Given the description of an element on the screen output the (x, y) to click on. 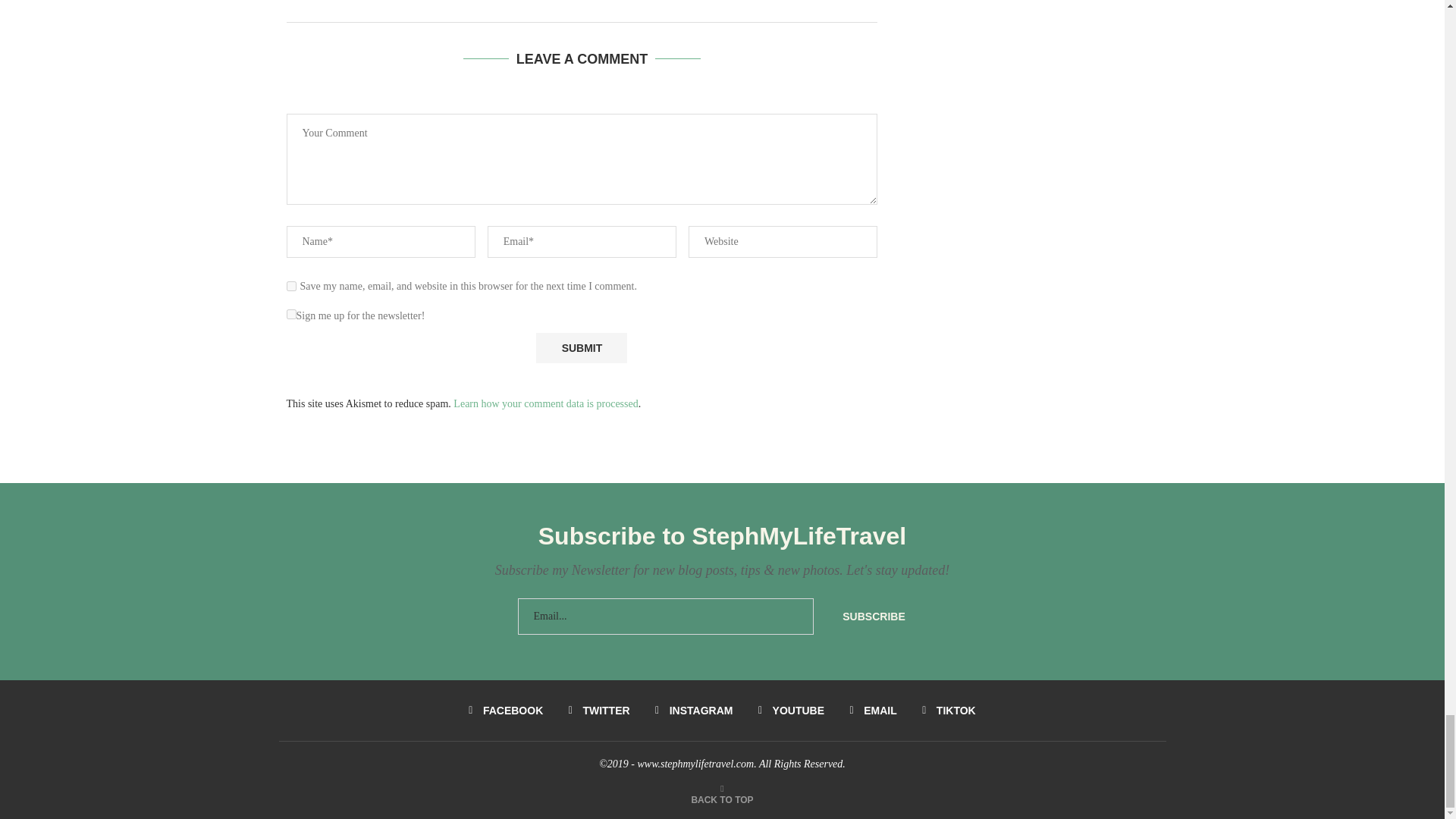
Submit (581, 347)
1 (291, 314)
Subscribe (873, 616)
yes (291, 286)
